Given the description of an element on the screen output the (x, y) to click on. 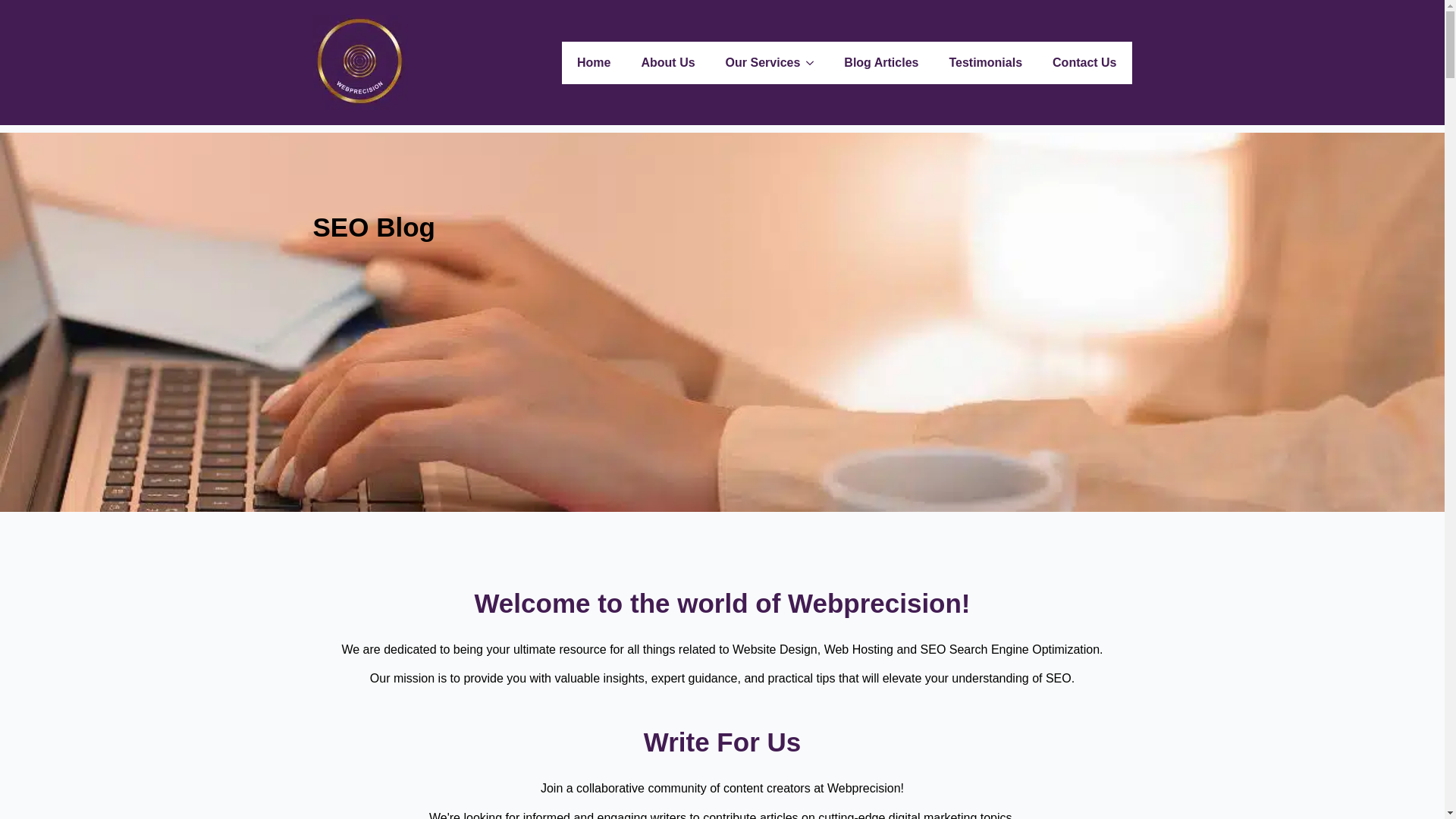
Blog Articles (880, 61)
Our Services (755, 61)
Testimonials (984, 61)
About Us (668, 61)
Home (594, 61)
Contact Us (1083, 61)
